Given the description of an element on the screen output the (x, y) to click on. 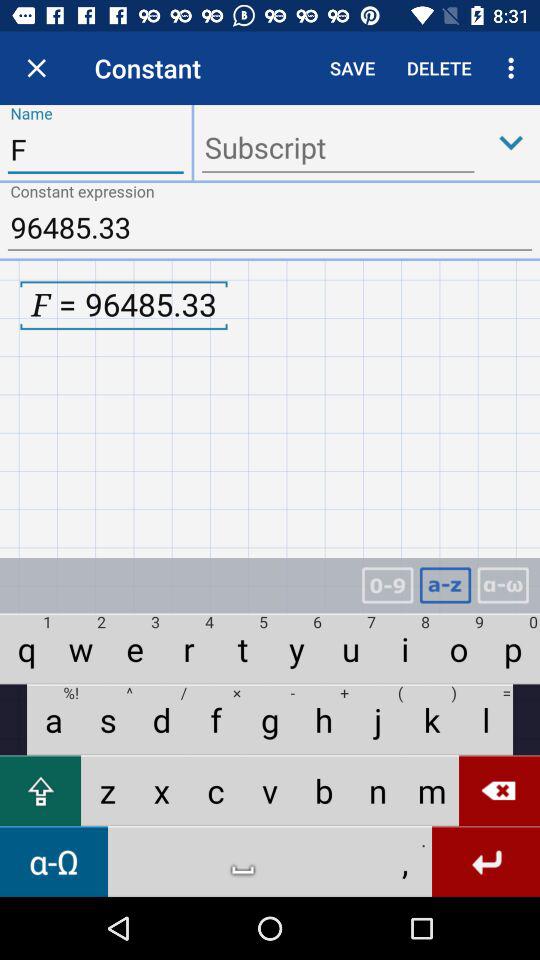
language option (503, 585)
